Given the description of an element on the screen output the (x, y) to click on. 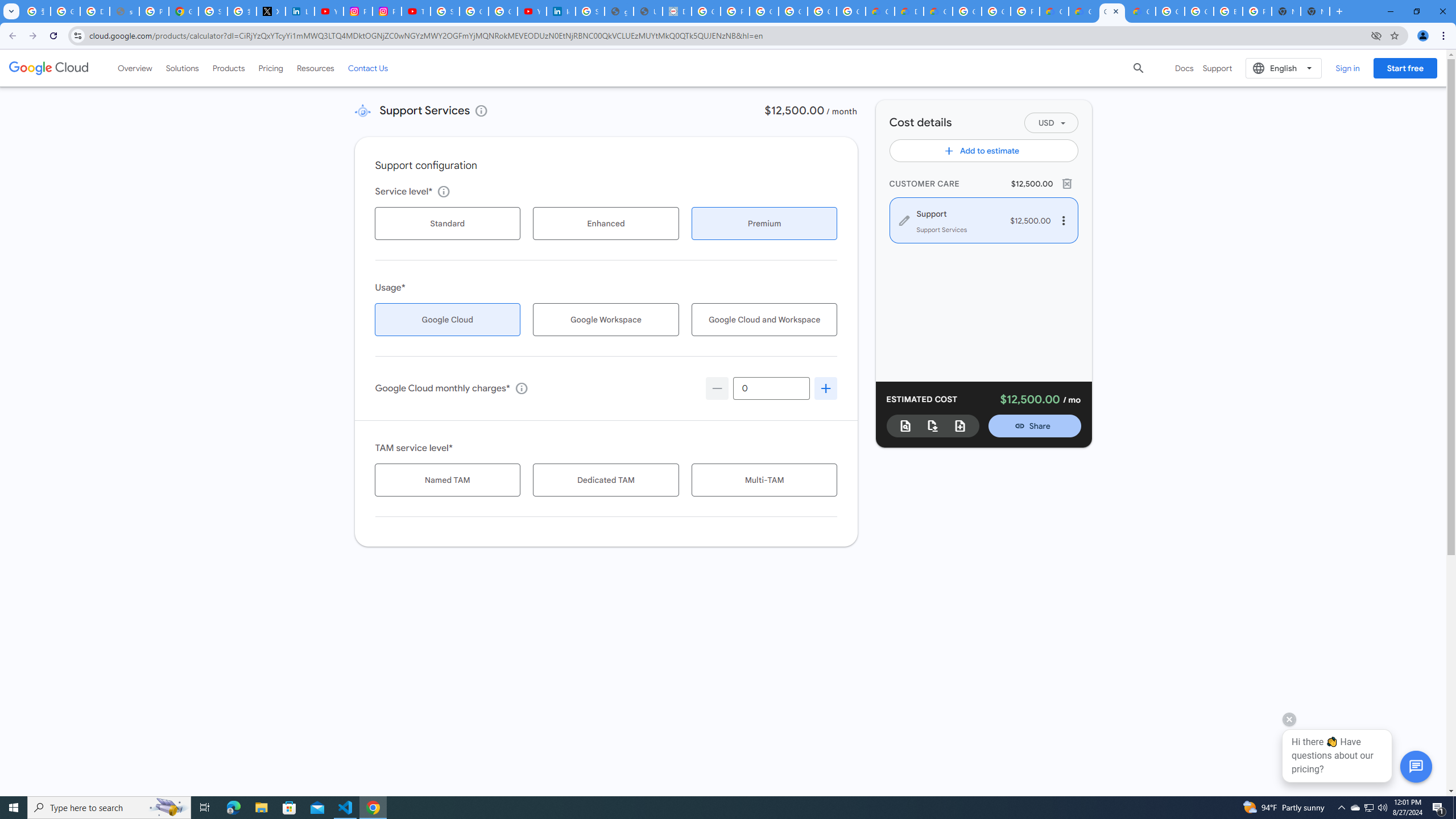
Google Cloud Platform (1198, 11)
Increment (825, 387)
Google Cloud (48, 67)
Customer Care | Google Cloud (1054, 11)
YouTube Content Monetization Policies - How YouTube Works (327, 11)
Delete group (1066, 182)
Sign in - Google Accounts (212, 11)
User Details (648, 11)
